Given the description of an element on the screen output the (x, y) to click on. 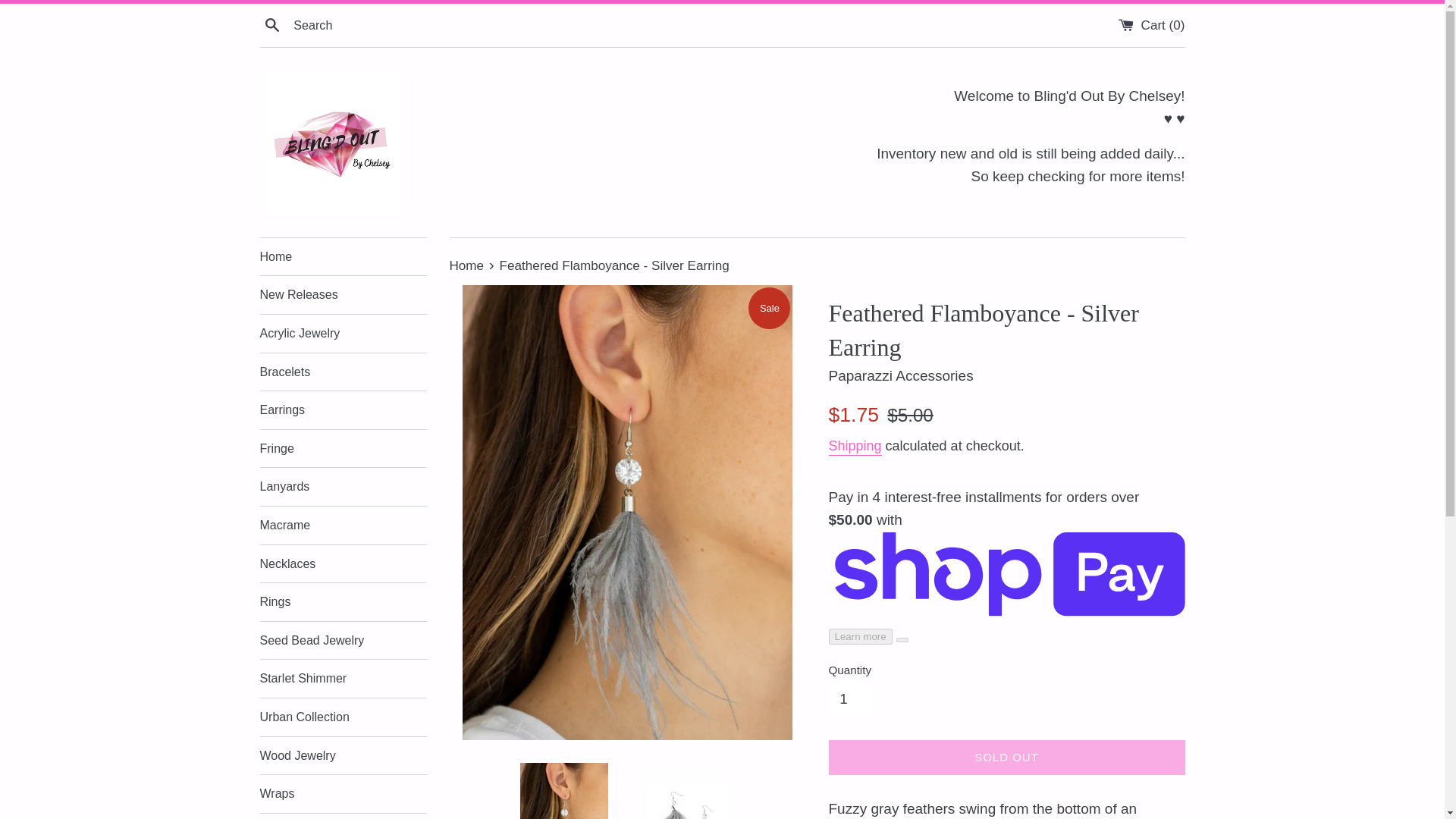
Macrame (342, 525)
Home (467, 265)
Home (342, 257)
New Releases (342, 294)
Wraps (342, 793)
Rings (342, 601)
Fringe (342, 448)
Shipping (854, 446)
Back to the frontpage (467, 265)
Starlet Shimmer (342, 678)
Acrylic Jewelry (342, 333)
Urban Collection (342, 717)
Necklaces (342, 564)
Lanyards (342, 486)
1 (848, 698)
